Given the description of an element on the screen output the (x, y) to click on. 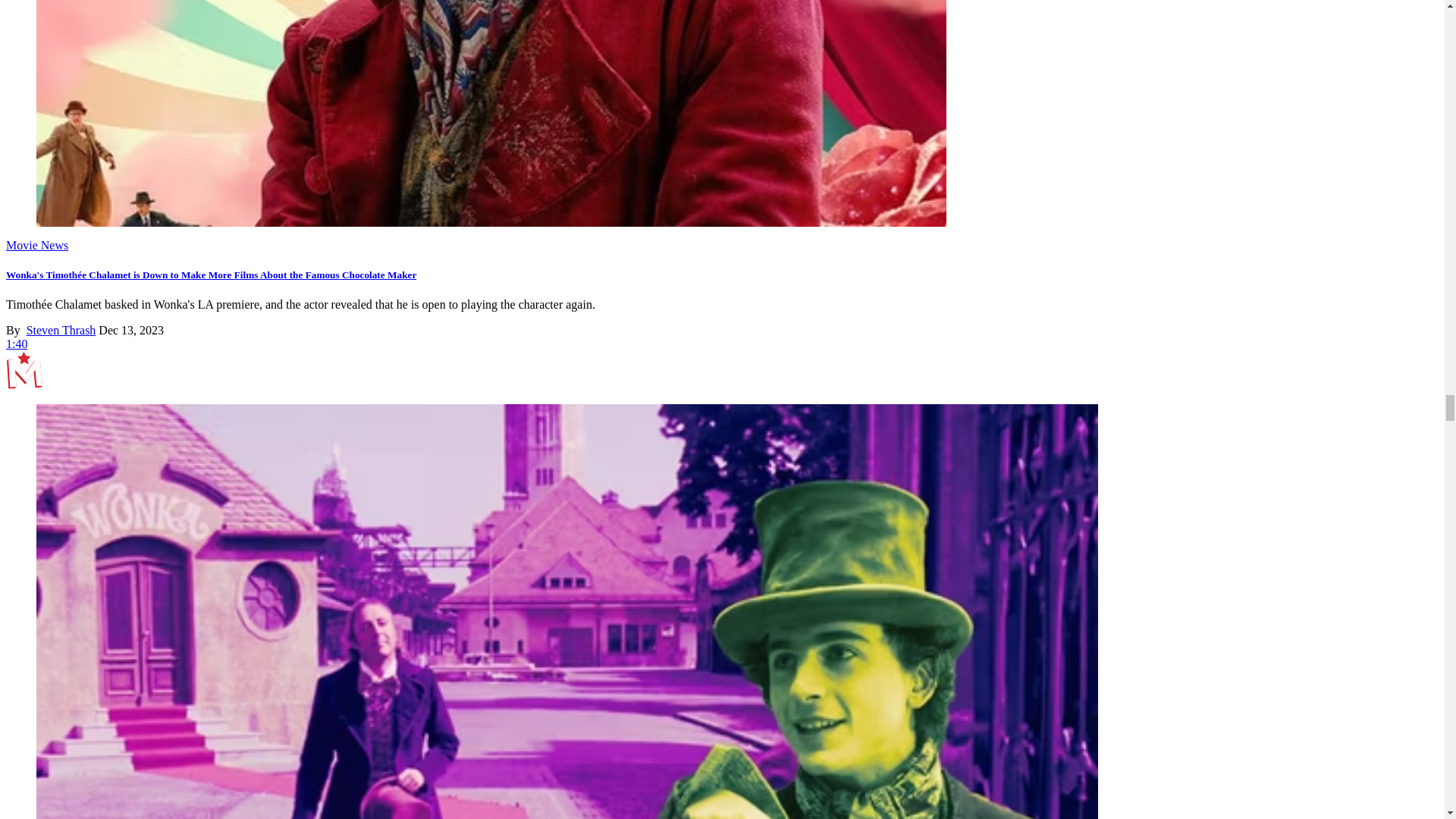
Posts by Steven Thrash (61, 329)
MovieWeb (24, 370)
